Given the description of an element on the screen output the (x, y) to click on. 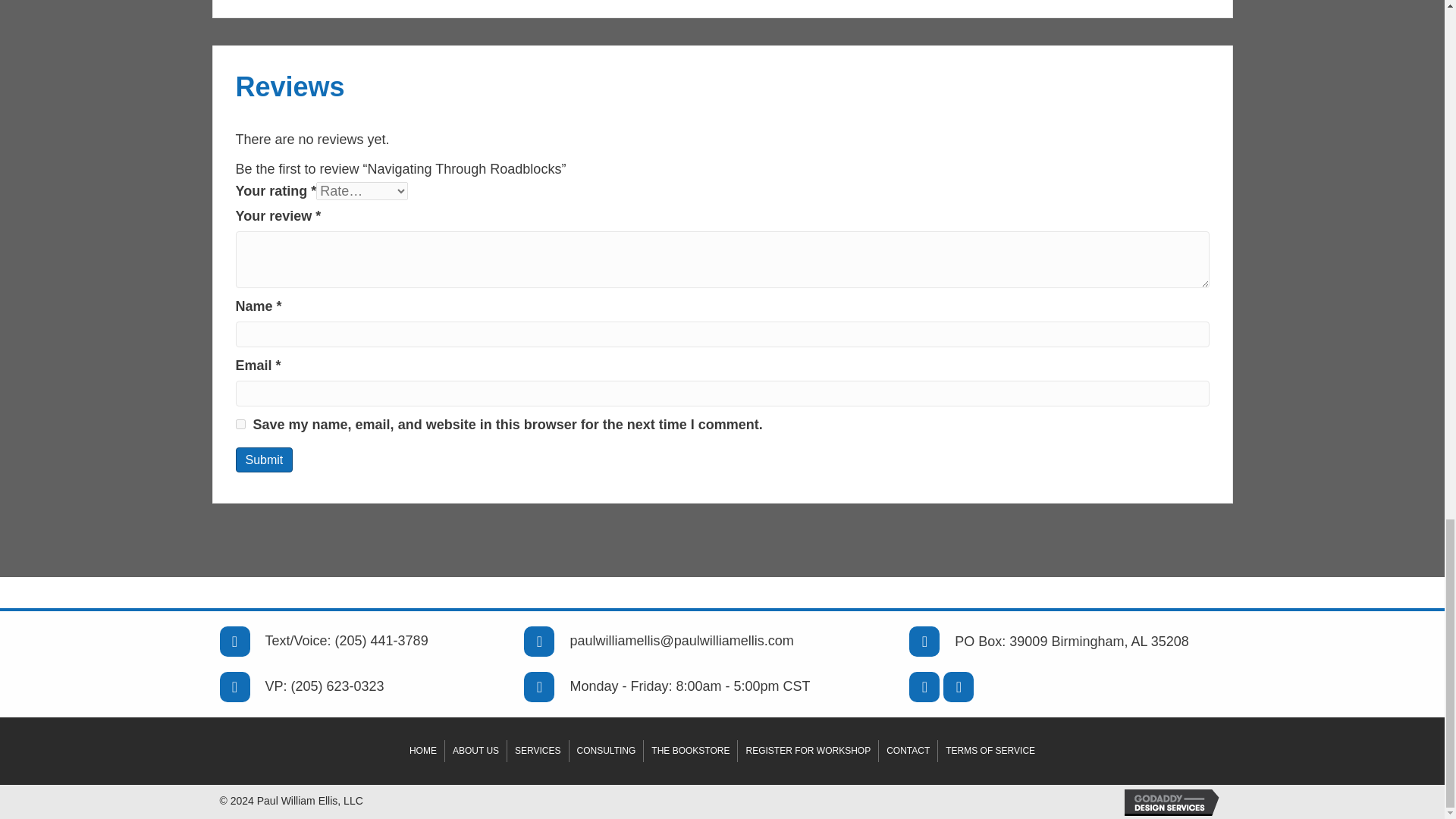
HOME (422, 751)
LinkedIn (923, 686)
Submit (263, 459)
yes (239, 424)
ABOUT US (475, 751)
Submit (263, 459)
